Given the description of an element on the screen output the (x, y) to click on. 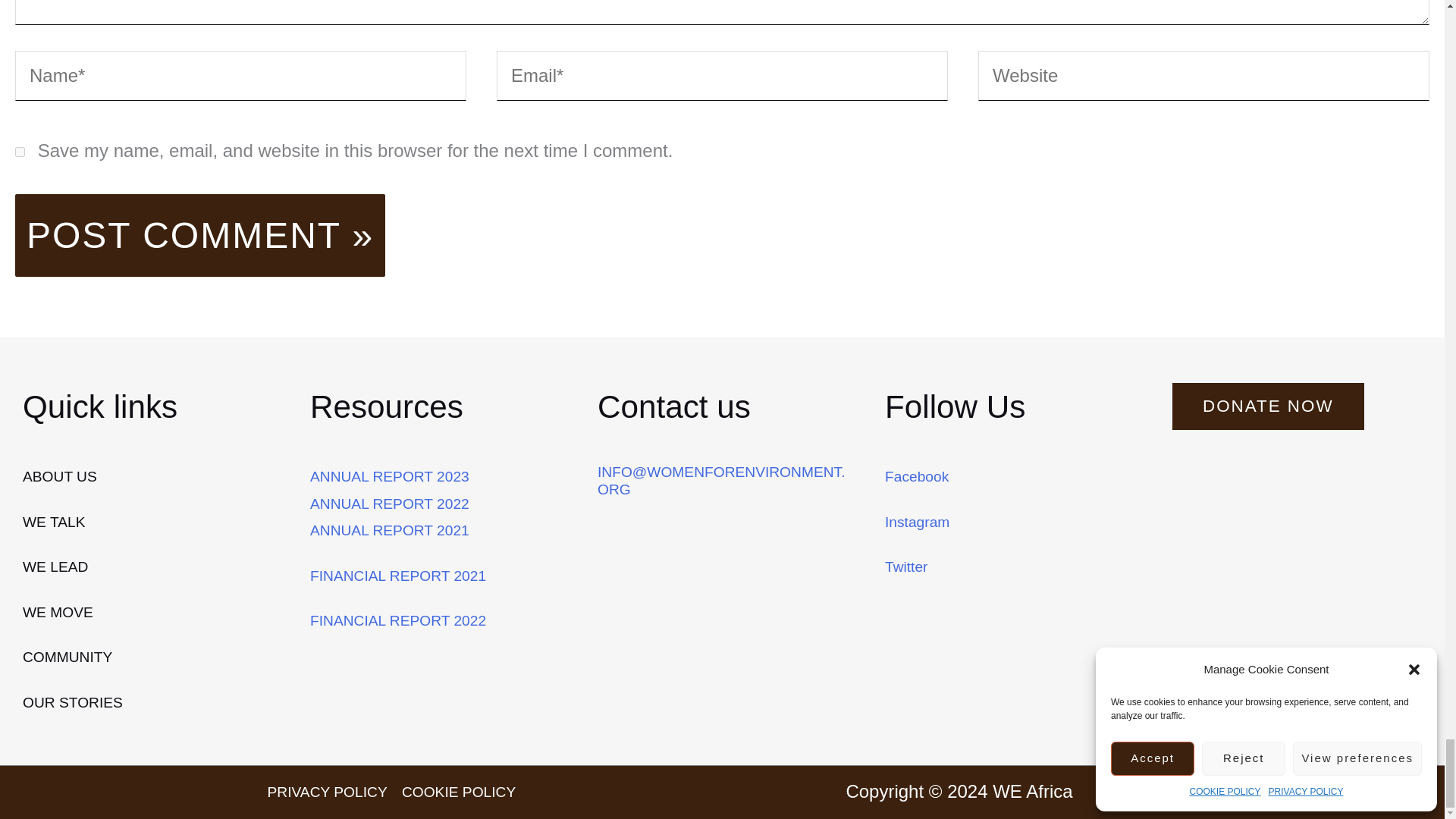
yes (19, 152)
